Given the description of an element on the screen output the (x, y) to click on. 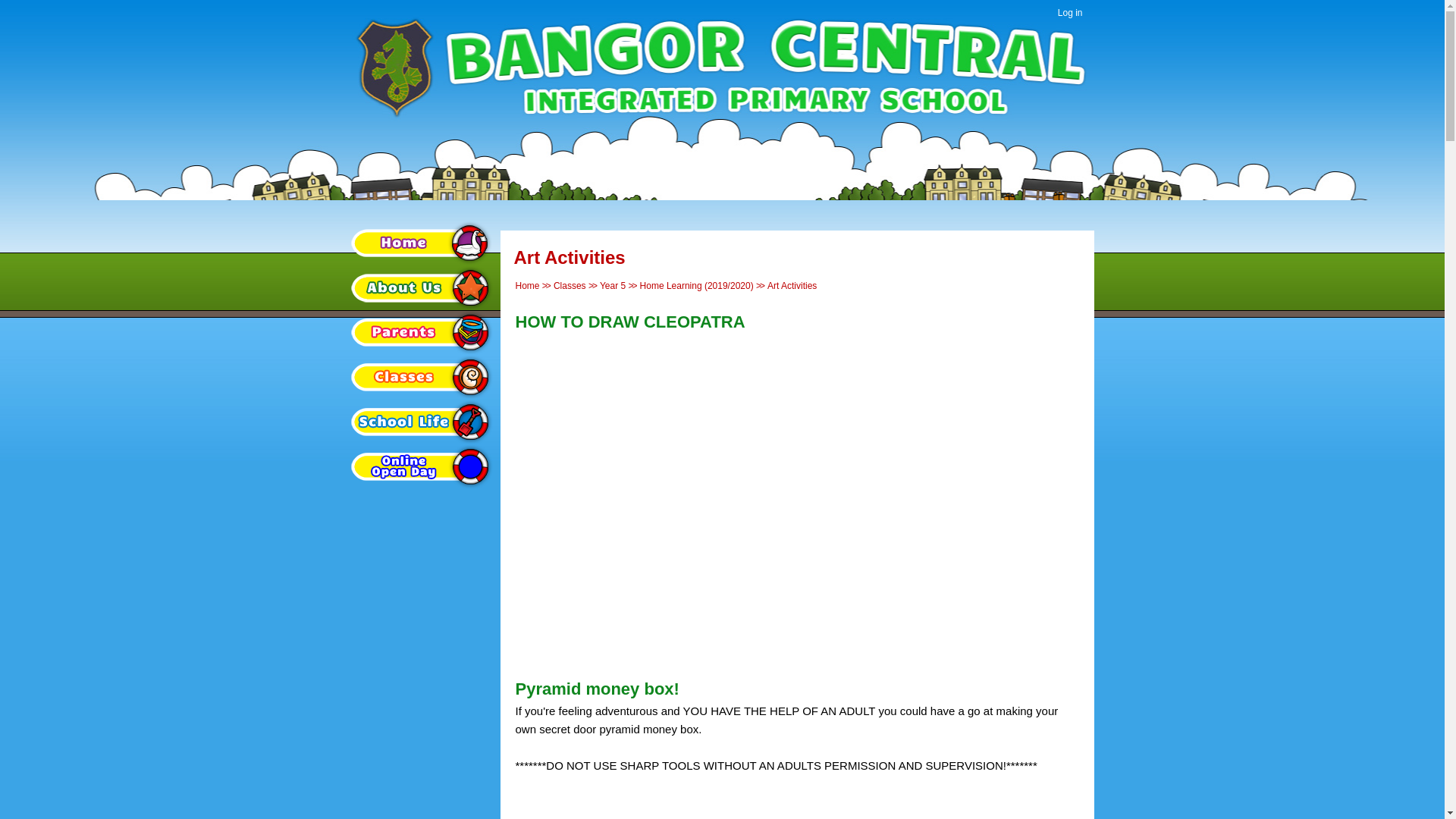
Log in (1070, 13)
Home (527, 285)
Art Activities (791, 285)
Home (421, 242)
Year 5 (612, 285)
Classes (569, 285)
About Us (421, 287)
